Given the description of an element on the screen output the (x, y) to click on. 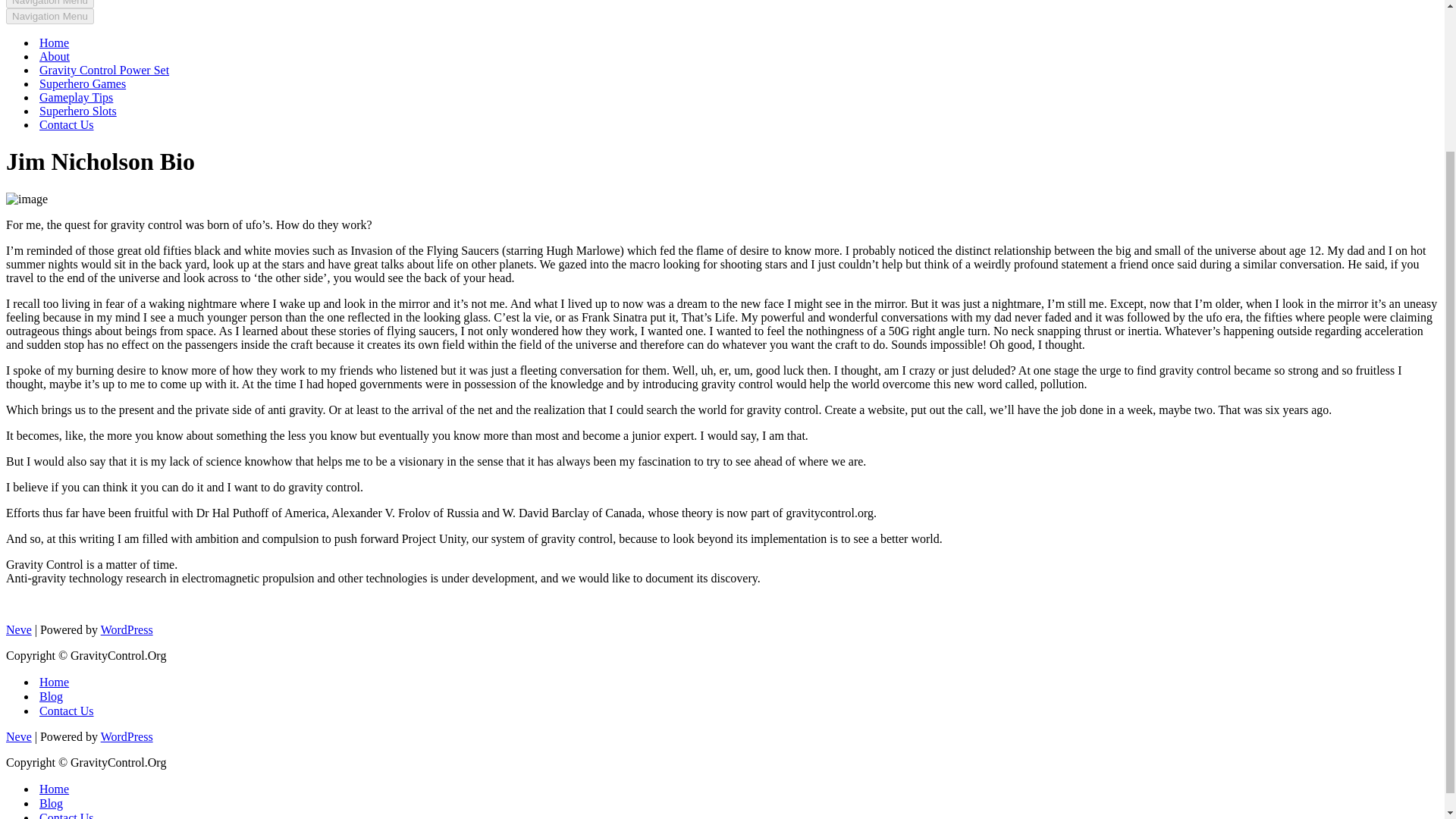
Navigation Menu (49, 16)
Neve (18, 629)
Home (53, 681)
Superhero Games (82, 83)
WordPress (126, 629)
Contact Us (66, 124)
Gameplay Tips (76, 97)
Blog (50, 803)
Neve (18, 736)
Gravity Control Power Set (103, 69)
Superhero Slots (77, 110)
About (54, 56)
Navigation Menu (49, 4)
Home (53, 42)
Home (53, 789)
